Given the description of an element on the screen output the (x, y) to click on. 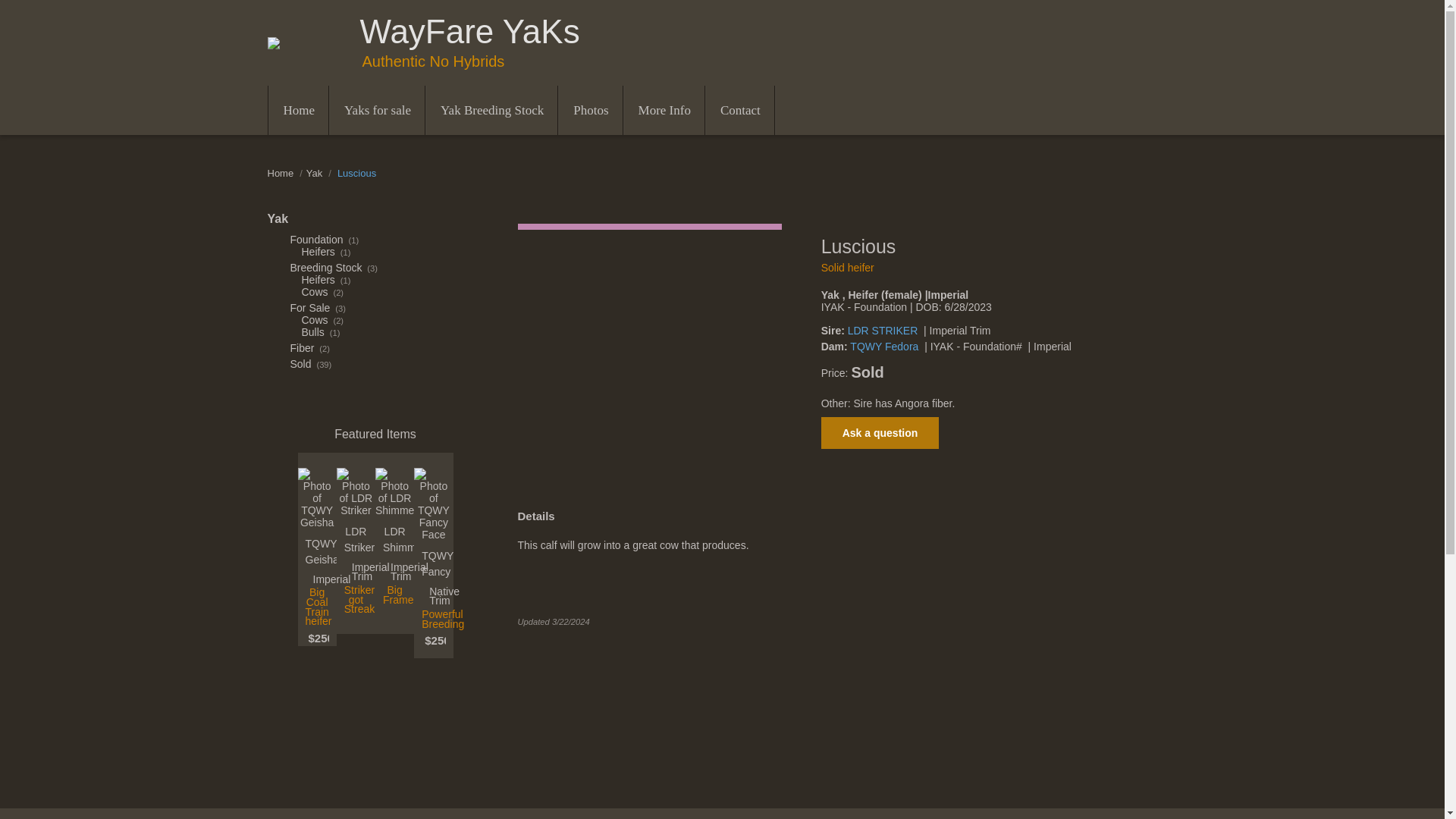
Yaks for sale (377, 110)
Home (280, 173)
LDR Striker (355, 540)
TQWY Fedora (884, 346)
More Info (663, 110)
Ask a question (880, 432)
Home (280, 173)
Yak Breeding Stock (491, 110)
female (648, 226)
TQWY Geisha (316, 552)
Yak (277, 218)
Contact (739, 110)
LDR Shimmer (394, 540)
Home (298, 110)
LDR STRIKER (882, 330)
